Given the description of an element on the screen output the (x, y) to click on. 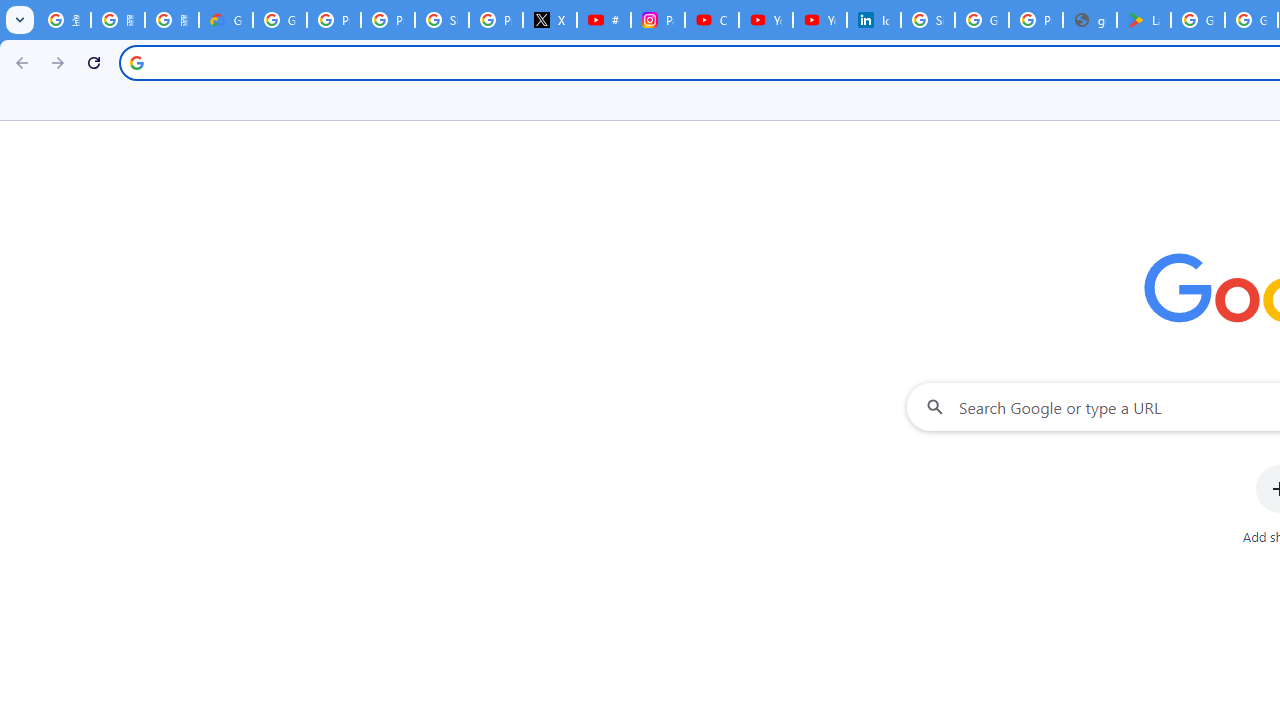
Sign in - Google Accounts (927, 20)
Sign in - Google Accounts (441, 20)
#nbabasketballhighlights - YouTube (604, 20)
Last Shelter: Survival - Apps on Google Play (1144, 20)
